Given the description of an element on the screen output the (x, y) to click on. 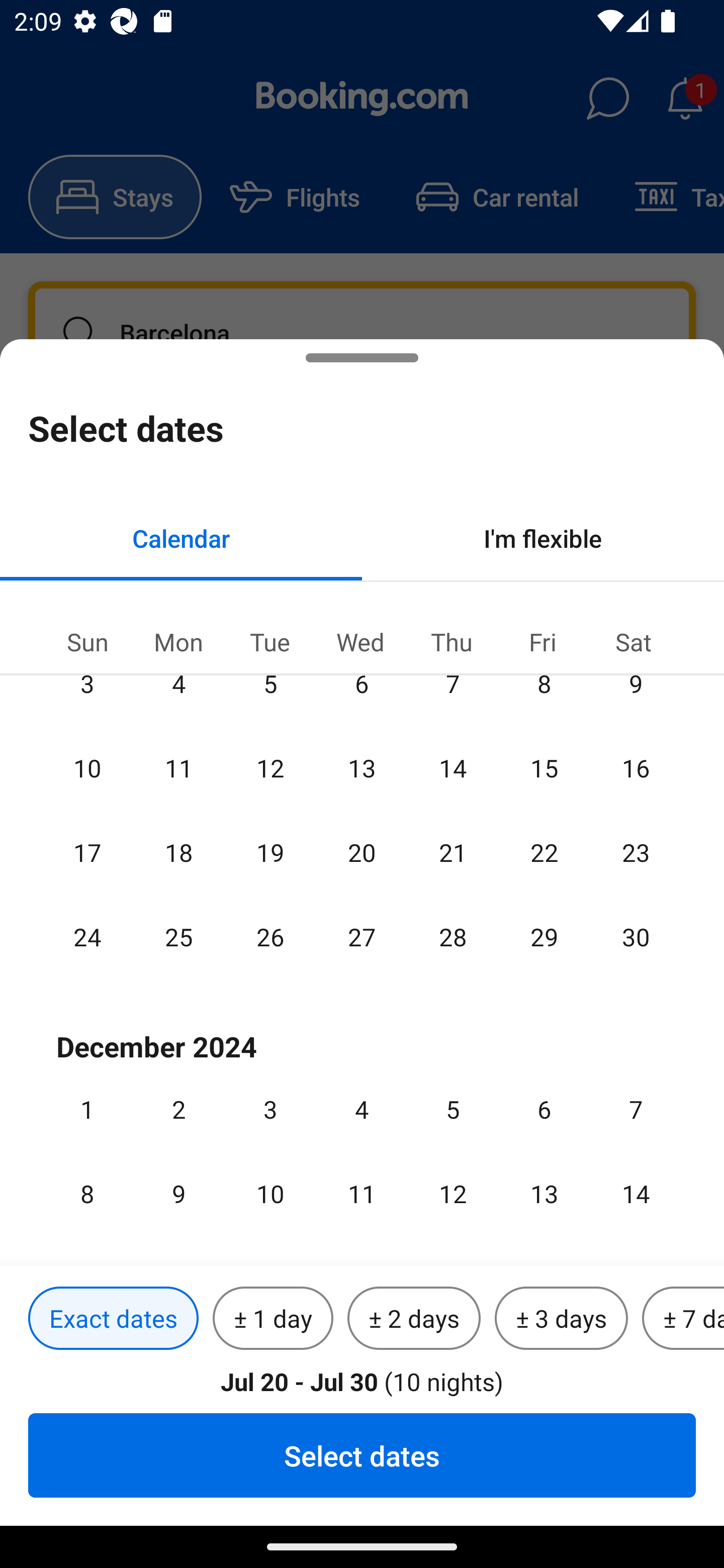
I'm flexible (543, 537)
Exact dates (113, 1318)
± 1 day (272, 1318)
± 2 days (413, 1318)
± 3 days (560, 1318)
± 7 days (683, 1318)
Select dates (361, 1454)
